Given the description of an element on the screen output the (x, y) to click on. 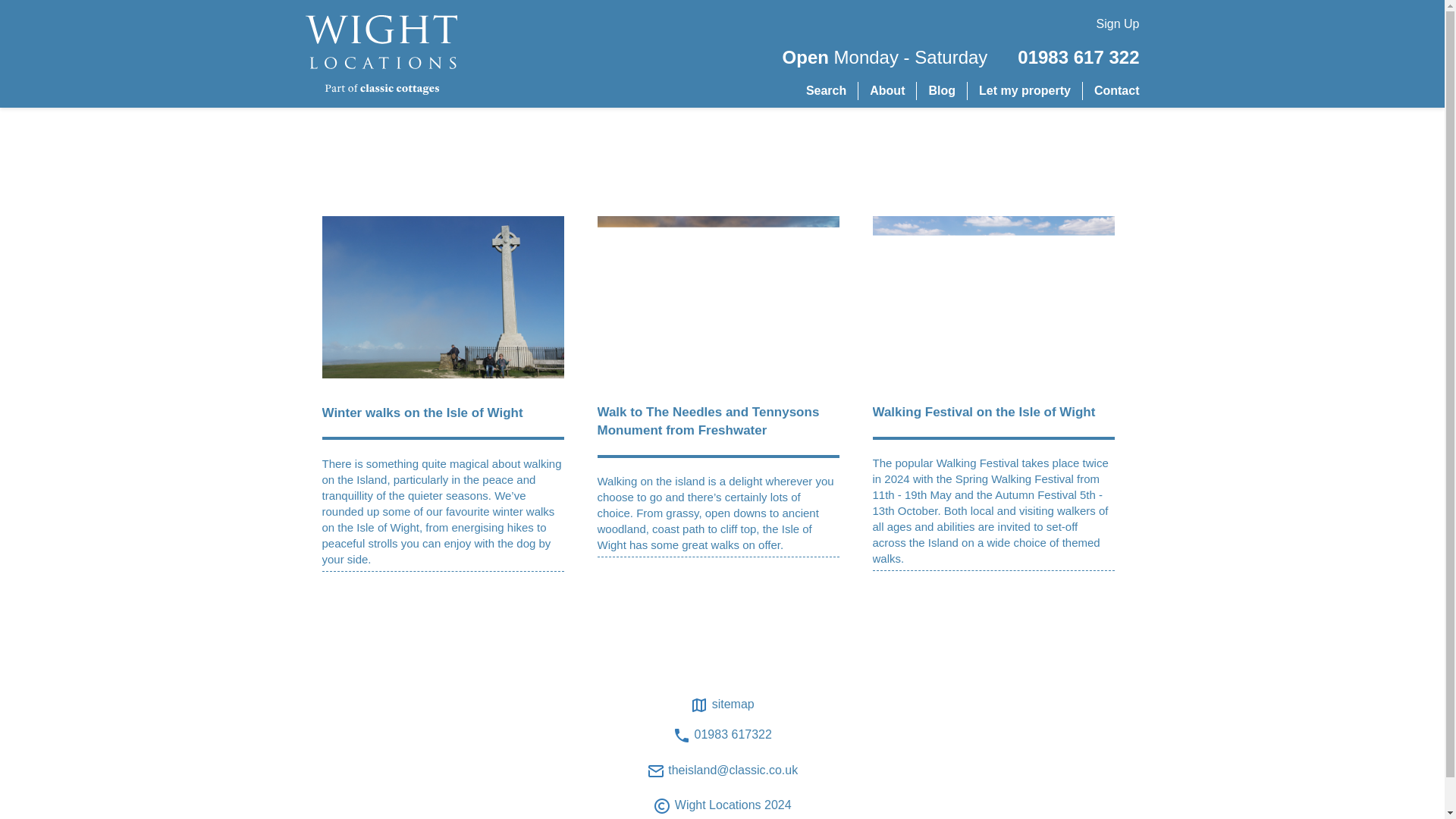
Sign Up (1118, 23)
About (886, 90)
01983 617 322 (1077, 57)
Contact (1117, 90)
Search (825, 90)
Blog (941, 90)
Let my property (1024, 90)
